Given the description of an element on the screen output the (x, y) to click on. 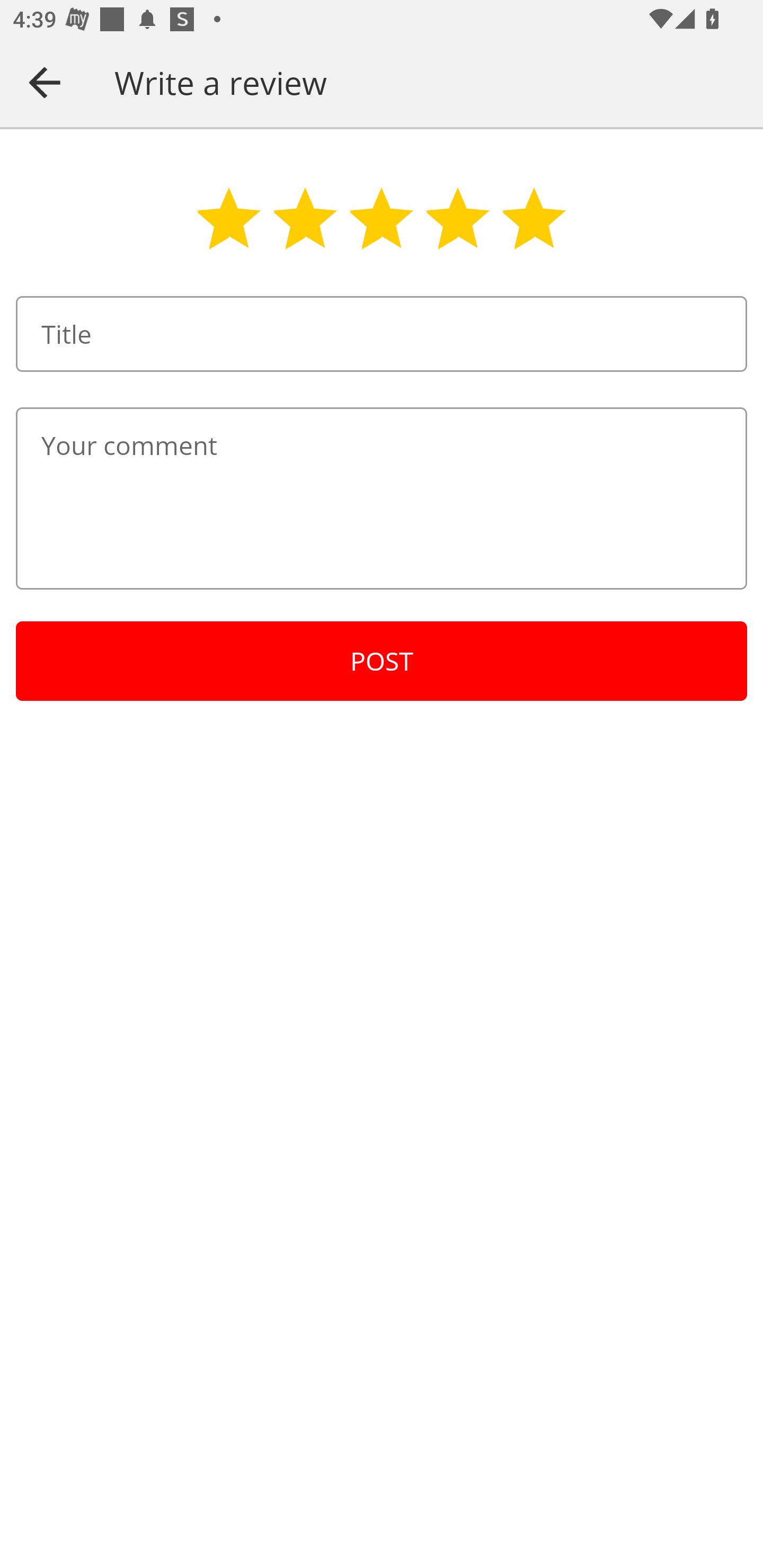
Navigate up (44, 82)
Title (381, 333)
Your comment (381, 498)
POST (381, 660)
